Given the description of an element on the screen output the (x, y) to click on. 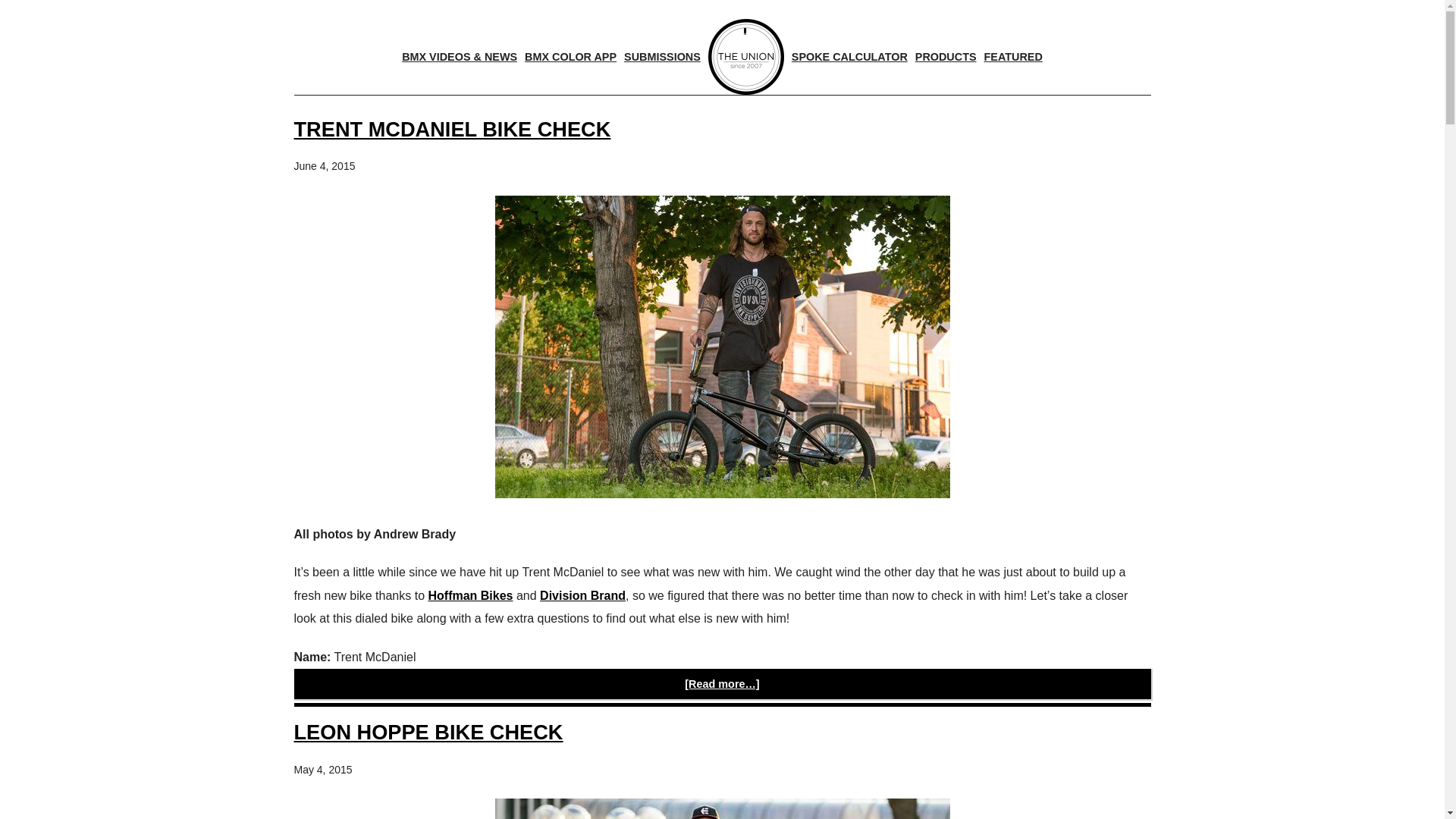
BMX COLOR APP (570, 56)
SUBMISSIONS (662, 56)
LEON HOPPE BIKE CHECK (428, 731)
Hoffman Bikes (470, 594)
TRENT MCDANIEL BIKE CHECK (452, 128)
PRODUCTS (945, 56)
FEATURED (1012, 56)
SPOKE CALCULATOR (849, 56)
Division Brand (583, 594)
